Given the description of an element on the screen output the (x, y) to click on. 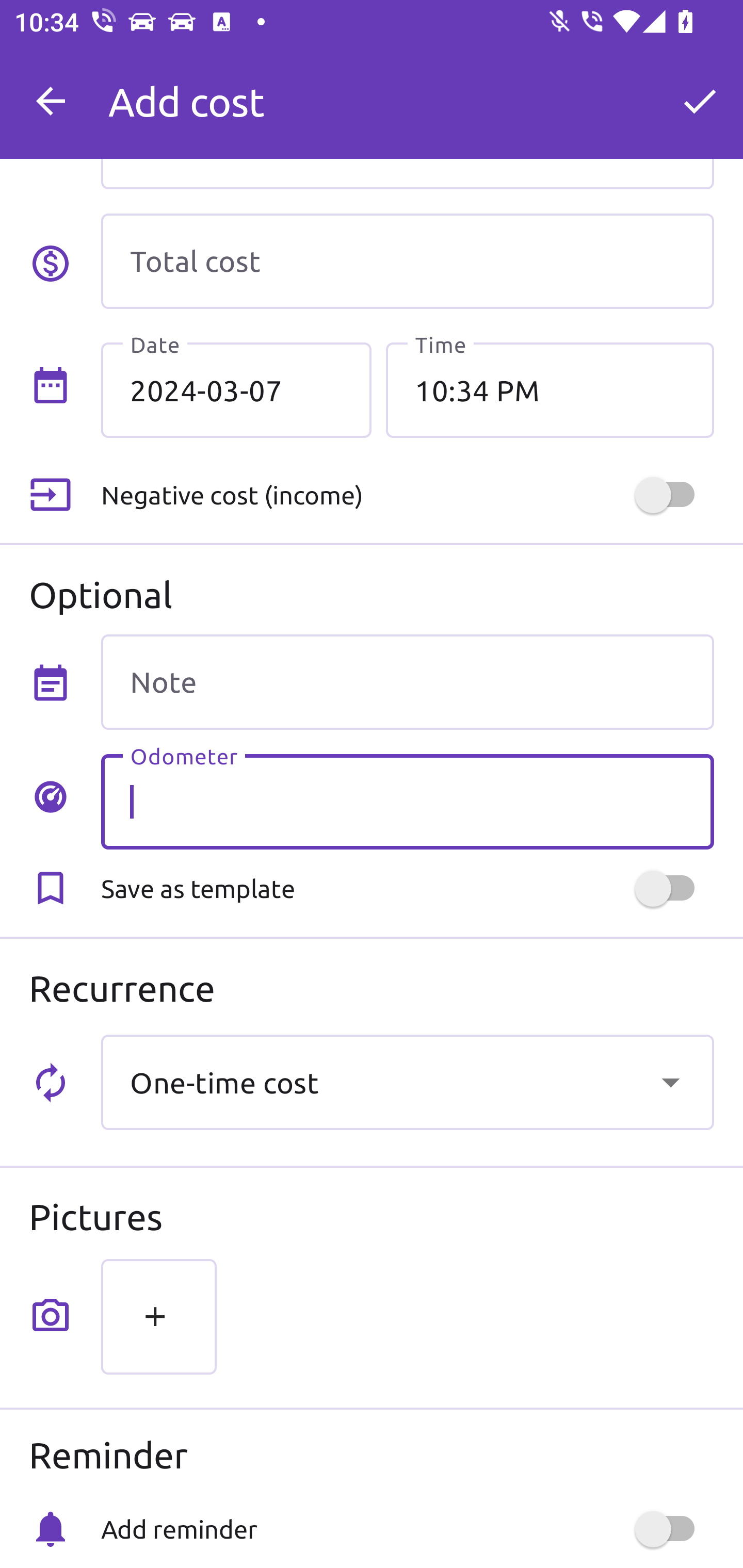
A No name 0 km (407, 92)
Navigate up (50, 101)
OK (699, 101)
Total cost  (407, 260)
2024-03-07 (236, 389)
10:34 PM (549, 389)
Negative cost (income) (407, 494)
Note (407, 682)
Odometer (407, 801)
Save as template (407, 887)
One-time cost (407, 1082)
Show dropdown menu (670, 1081)
Add reminder (407, 1529)
